Given the description of an element on the screen output the (x, y) to click on. 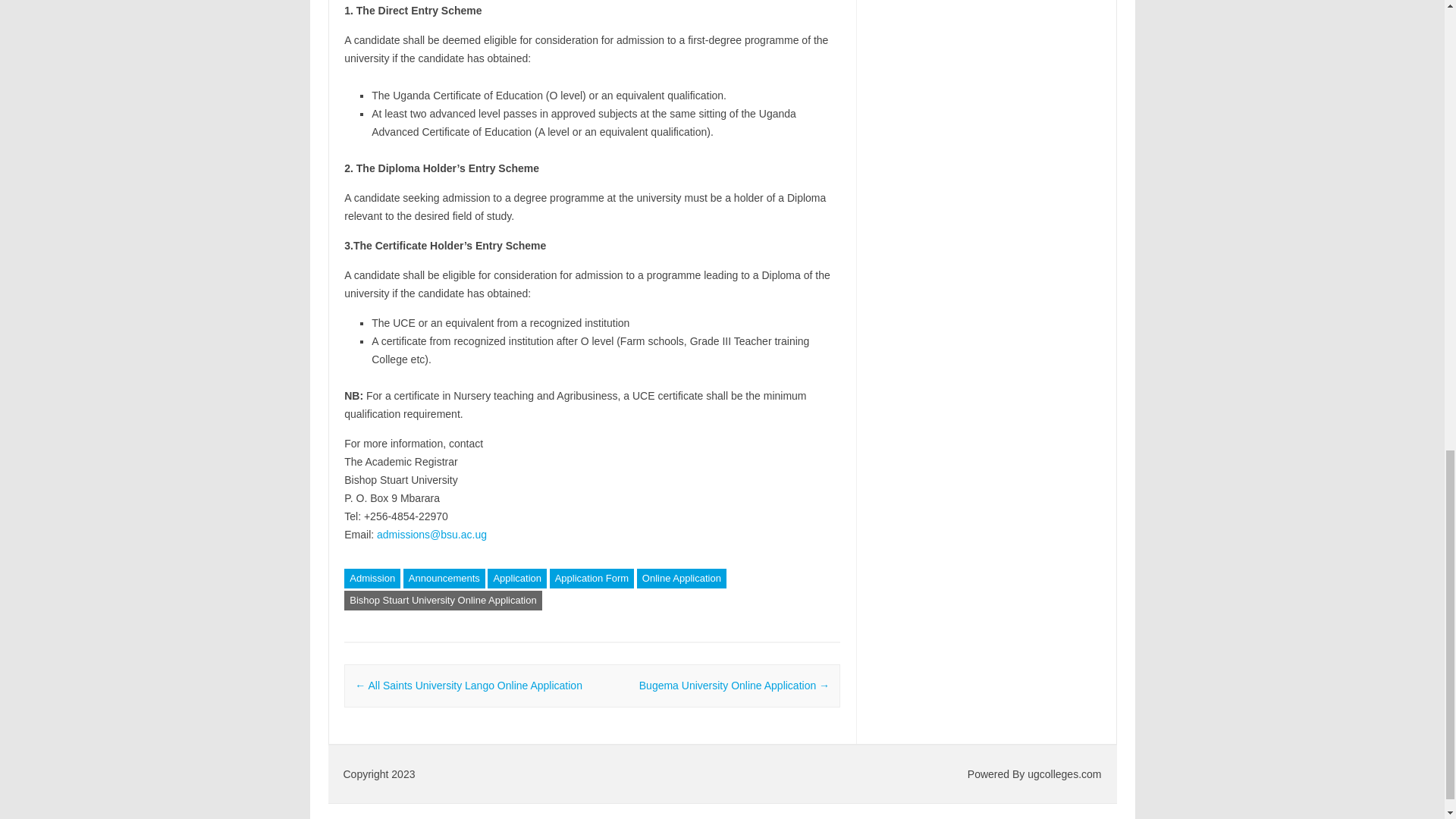
Announcements (443, 578)
Bishop Stuart University Online Application (442, 600)
Online Application (681, 578)
Application Form (592, 578)
Application (517, 578)
Admission (371, 578)
